Given the description of an element on the screen output the (x, y) to click on. 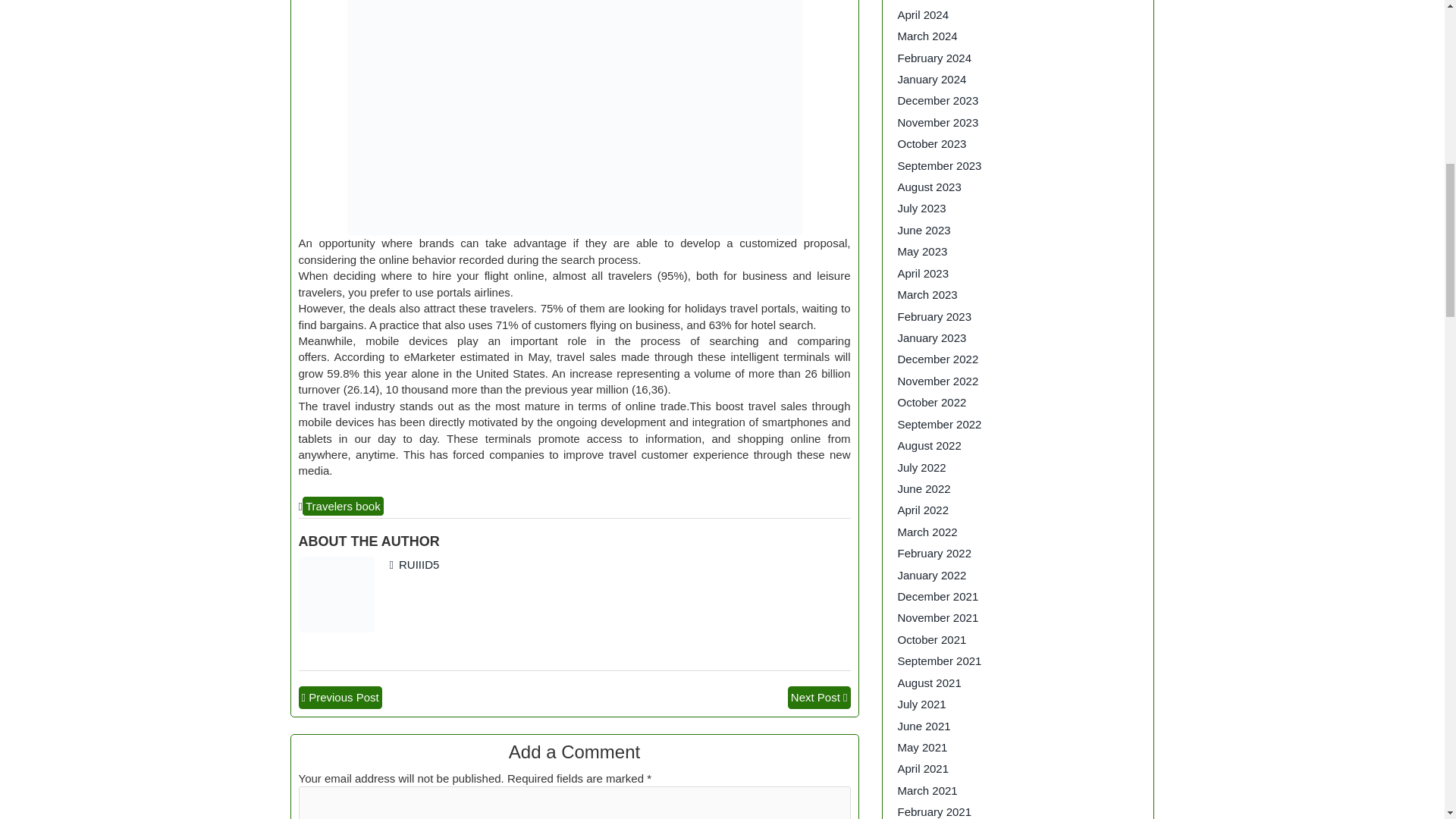
January 2024 (932, 78)
Next Post (815, 697)
November 2023 (938, 122)
October 2023 (932, 143)
March 2024 (928, 35)
Travelers book (343, 505)
April 2024 (923, 14)
Previous Post (343, 697)
February 2024 (935, 57)
December 2023 (938, 100)
